Given the description of an element on the screen output the (x, y) to click on. 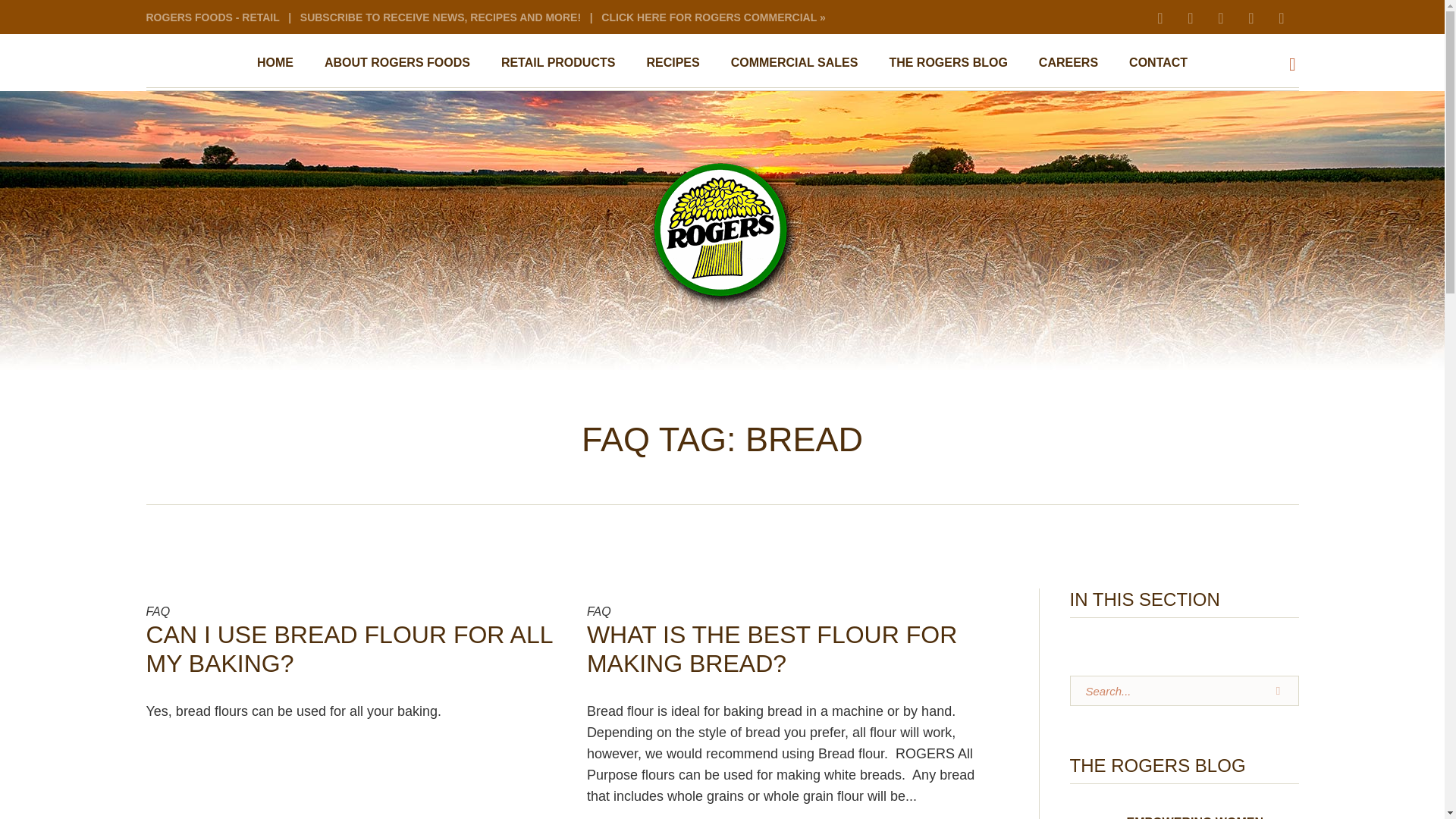
ABOUT ROGERS FOODS (396, 62)
Follow Rogers Foods on Twitter (1281, 17)
Follow Rogers Foods on Facebook (1220, 17)
HOME (274, 62)
RECIPES (672, 62)
Rogers Foods on YouTube (1190, 17)
RETAIL PRODUCTS (558, 62)
Visit Rogers Foods on Linkedin (1250, 17)
SUBSCRIBE TO RECEIVE NEWS, RECIPES AND MORE! (439, 16)
COMMERCIAL SALES (794, 62)
Follow Rogers Foods on Instagram (1160, 17)
